Given the description of an element on the screen output the (x, y) to click on. 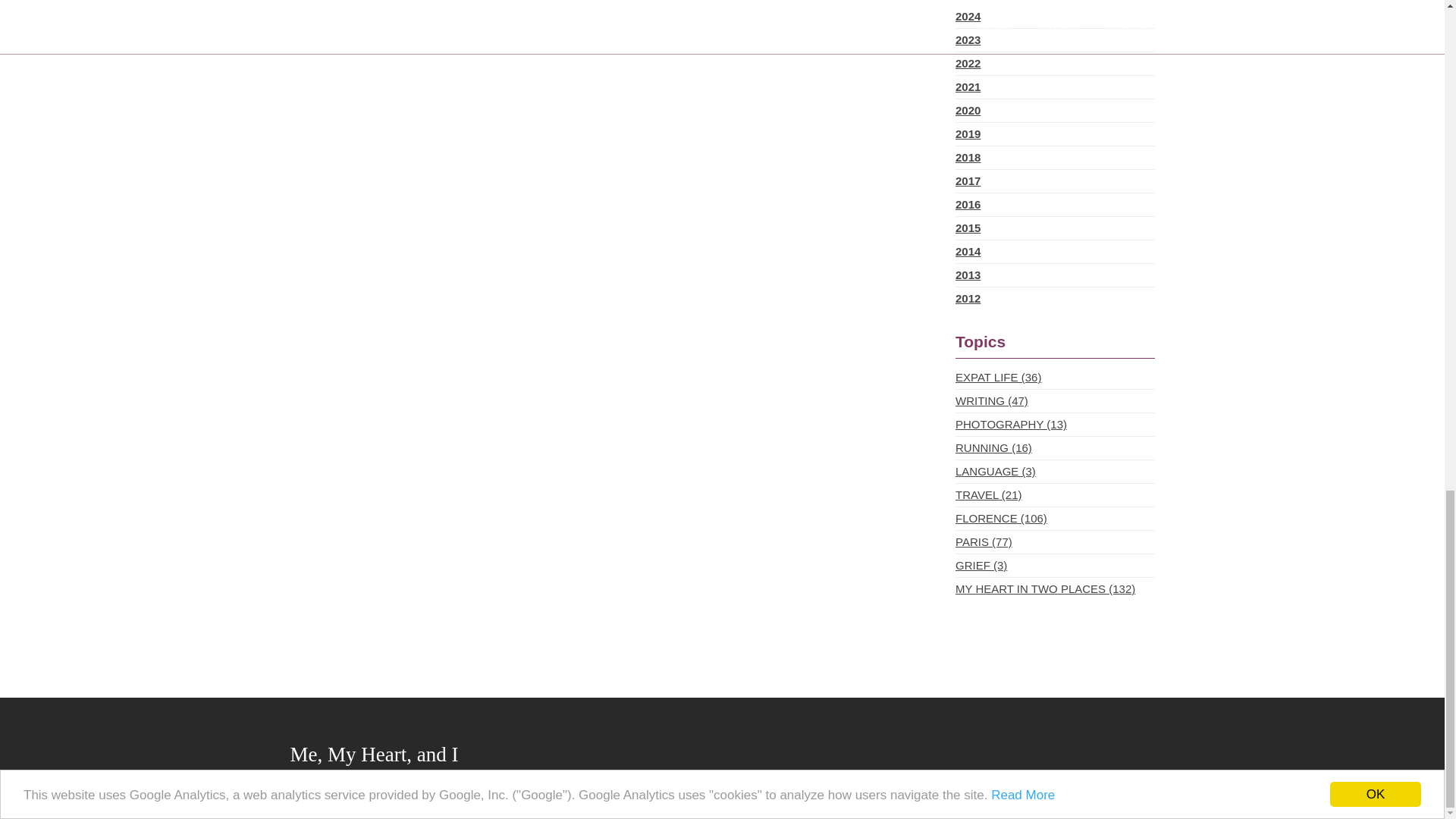
2020 (1054, 110)
2023 (1054, 40)
2024 (1054, 16)
2021 (1054, 86)
2022 (1054, 63)
